Given the description of an element on the screen output the (x, y) to click on. 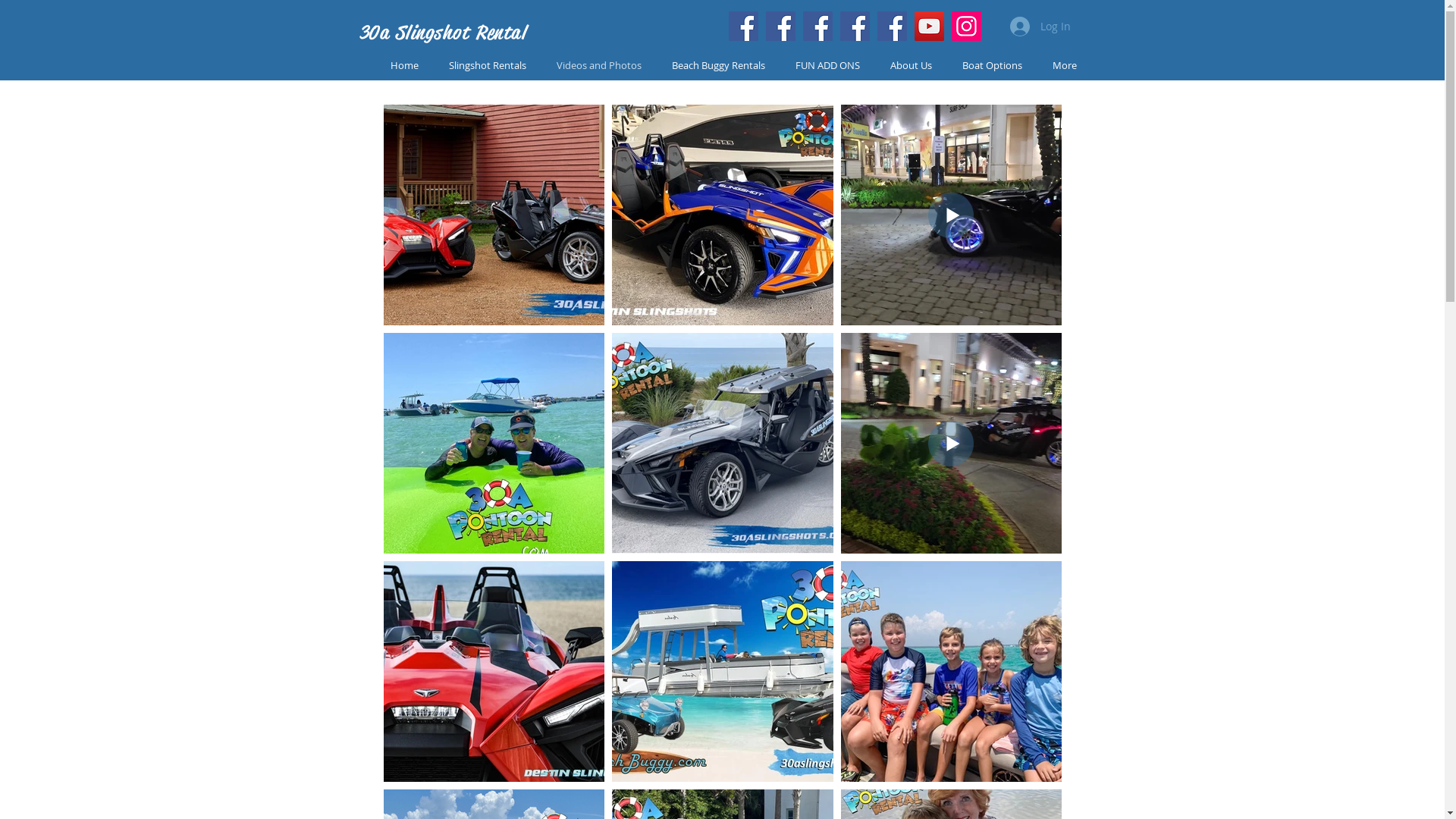
FUN ADD ONS Element type: text (826, 65)
30a Slingshot  Rental Element type: text (442, 32)
About Us Element type: text (911, 65)
Log In Element type: text (1040, 26)
Boat Options Element type: text (991, 65)
Home Element type: text (403, 65)
Slingshot Rentals Element type: text (487, 65)
Beach Buggy Rentals Element type: text (718, 65)
Videos and Photos Element type: text (598, 65)
